Given the description of an element on the screen output the (x, y) to click on. 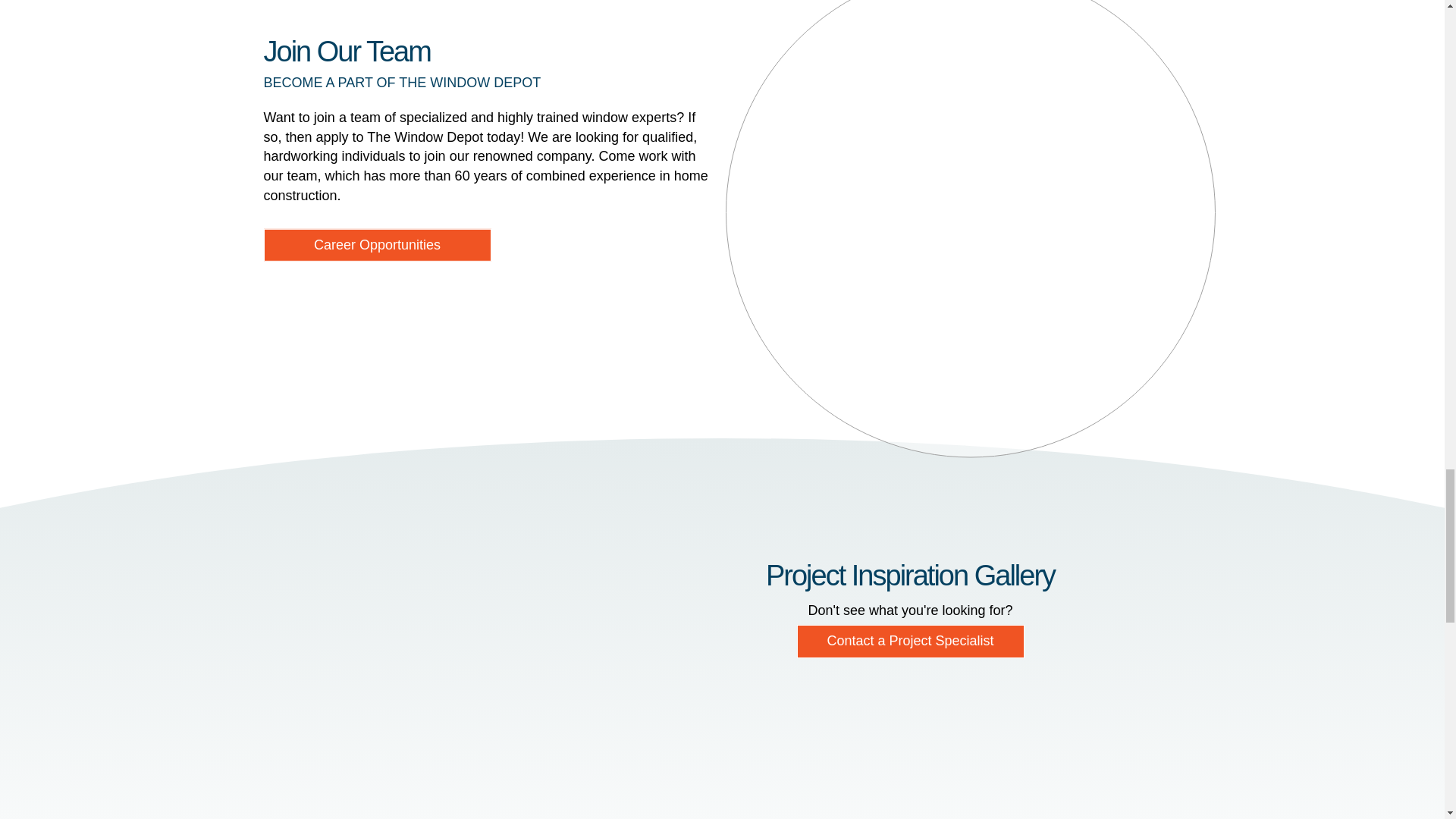
Career Opportunities (377, 244)
